Given the description of an element on the screen output the (x, y) to click on. 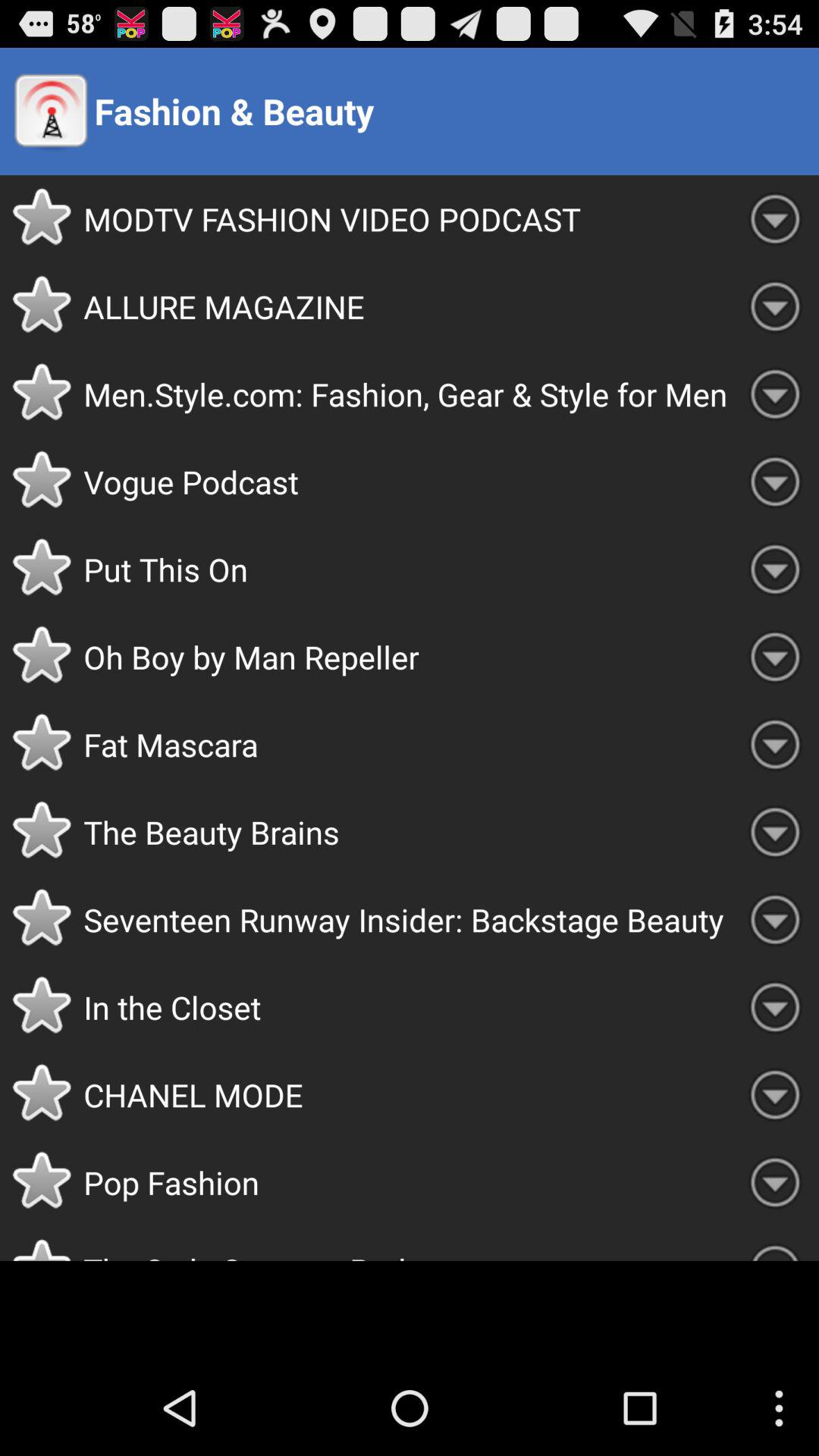
turn on app below the men style com icon (407, 481)
